Given the description of an element on the screen output the (x, y) to click on. 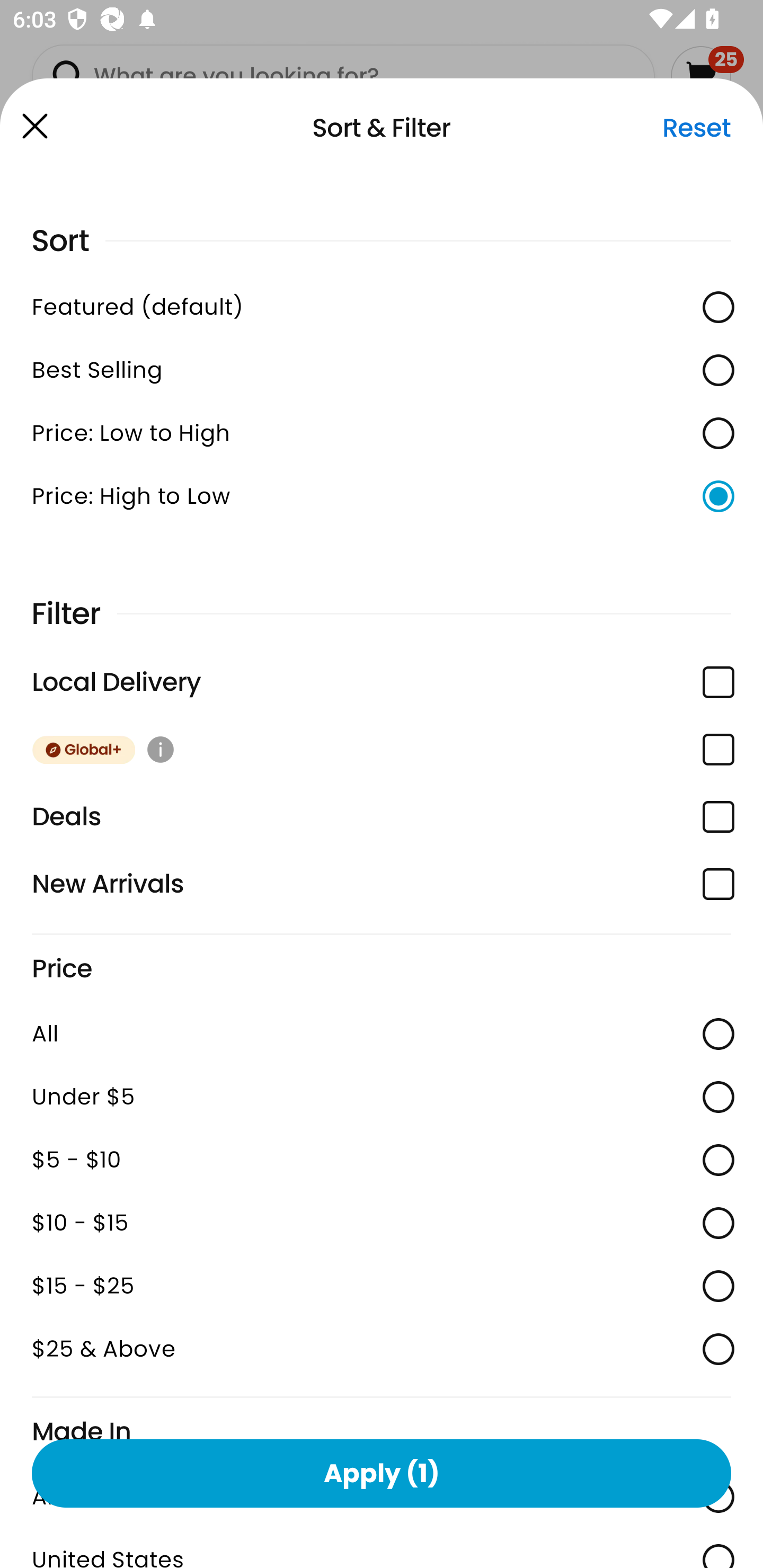
Reset (696, 127)
Apply (1) (381, 1472)
